Given the description of an element on the screen output the (x, y) to click on. 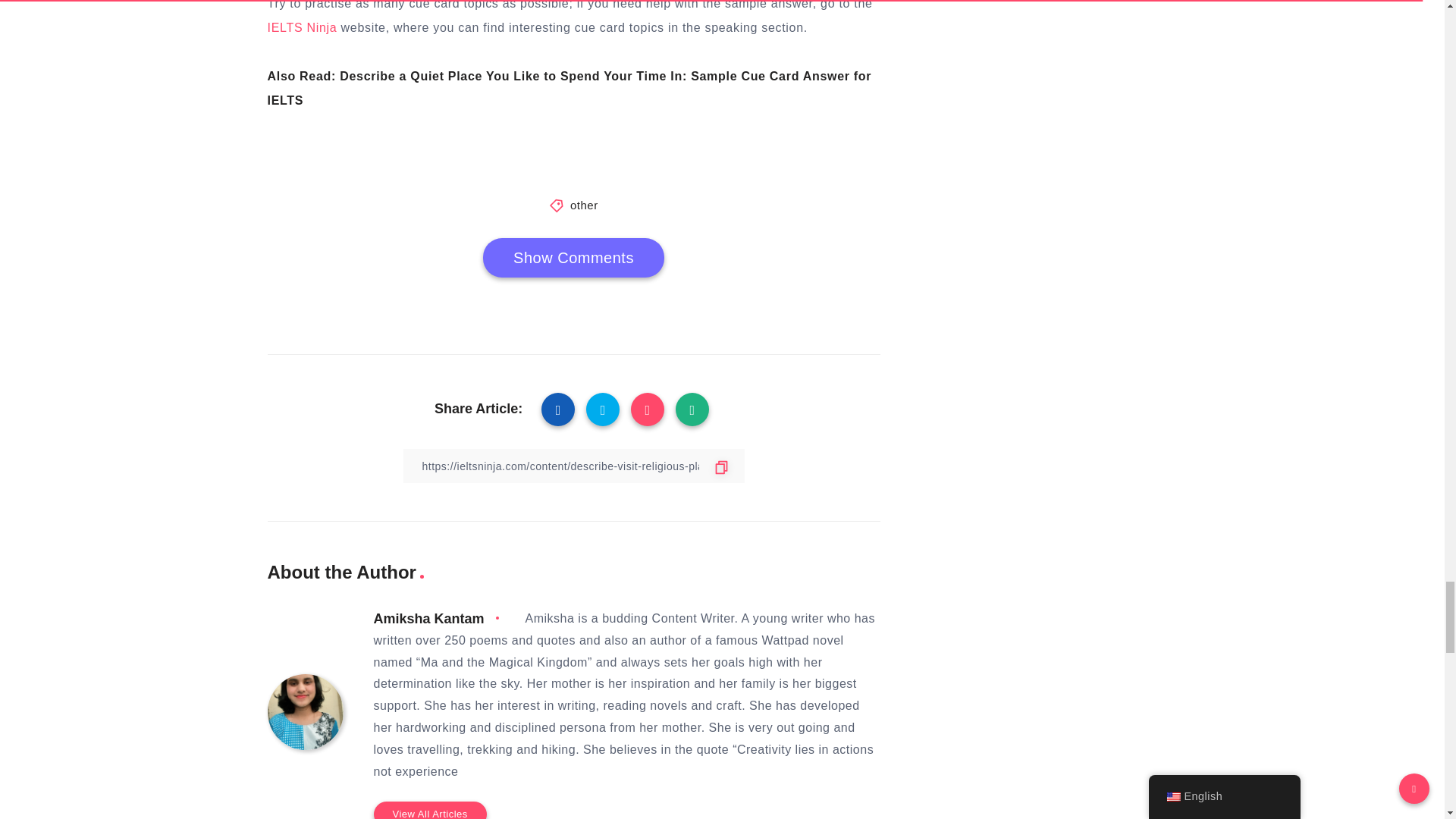
other (584, 205)
IELTS Ninja (301, 27)
